Given the description of an element on the screen output the (x, y) to click on. 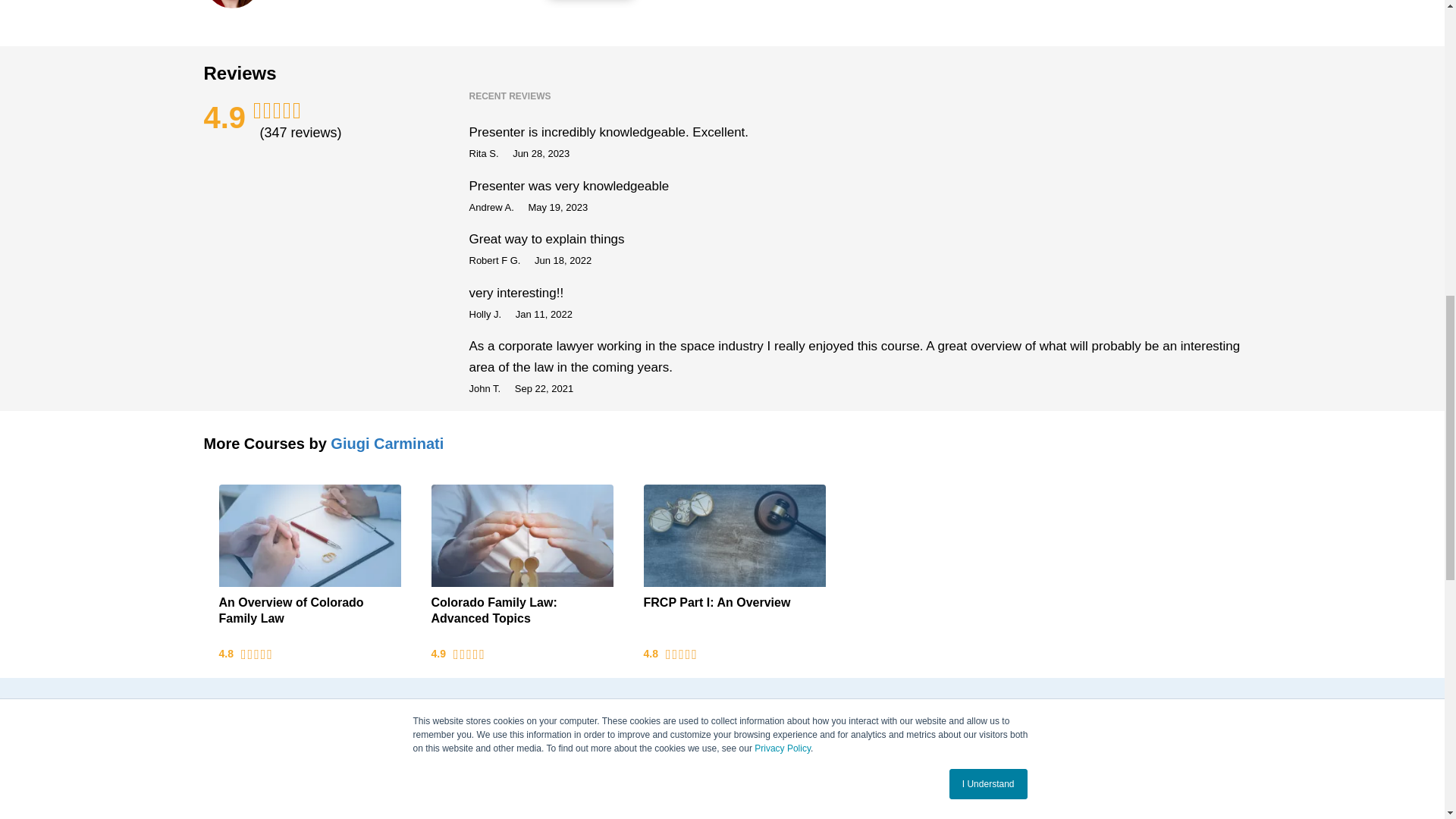
An Overview of Colorado Family Law (309, 535)
FRCP Part I: An Overview (734, 616)
Colorado Family Law: Advanced Topics (521, 616)
Colorado Family Law: Advanced Topics (521, 535)
An Overview of Colorado Family Law (309, 616)
Giugi Carminati (387, 443)
FRCP Part I: An Overview (734, 535)
